Given the description of an element on the screen output the (x, y) to click on. 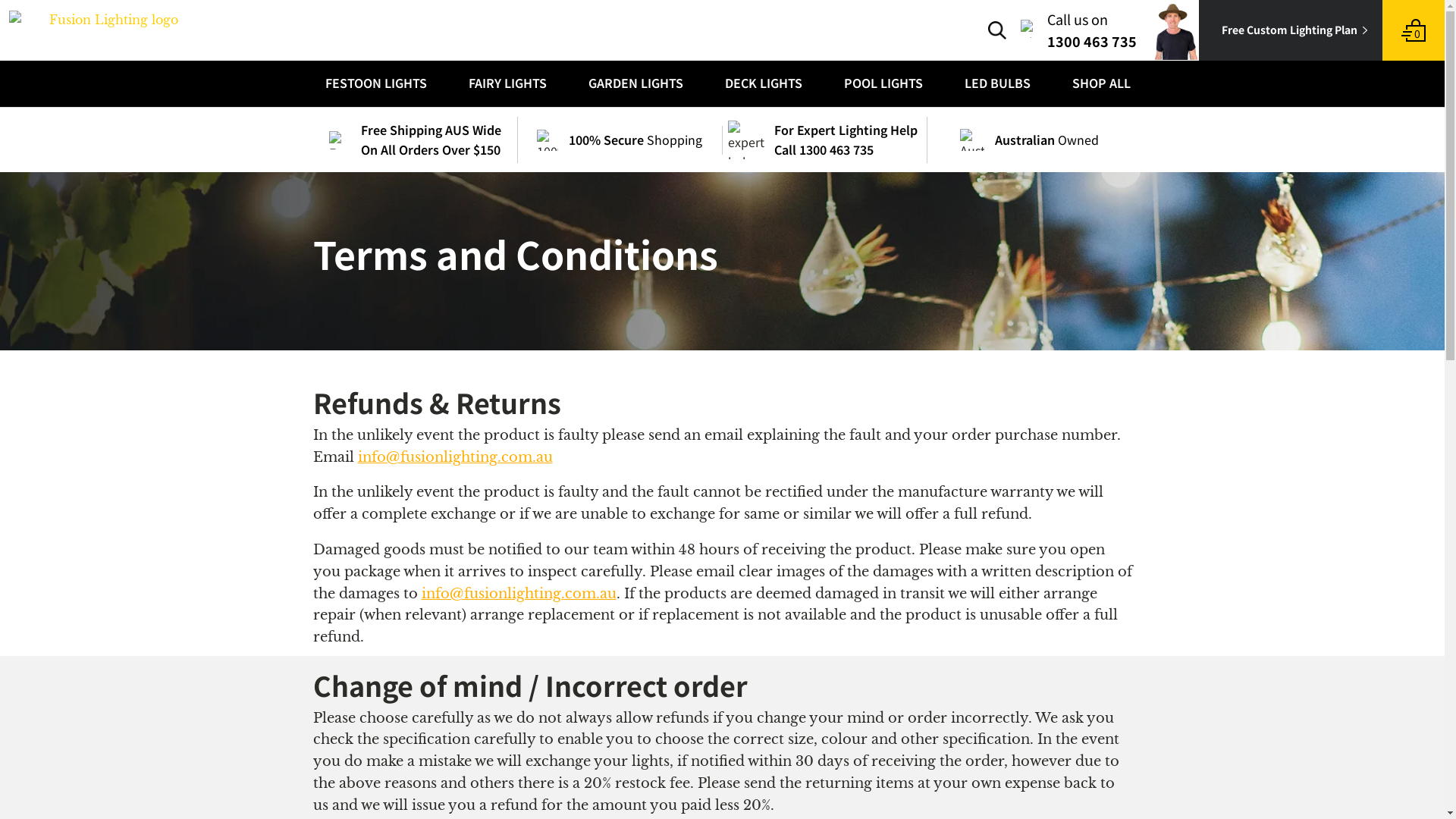
info@fusionlighting.com.au Element type: text (518, 593)
SHOP ALL Element type: text (1095, 83)
FESTOON LIGHTS Element type: text (370, 83)
0 Element type: text (1413, 30)
DECK LIGHTS Element type: text (757, 83)
LED BULBS Element type: text (991, 83)
Call us on
1300 463 735 Element type: text (1079, 30)
Search Element type: text (997, 30)
POOL LIGHTS Element type: text (877, 83)
FAIRY LIGHTS Element type: text (501, 83)
info@fusionlighting.com.au Element type: text (454, 456)
GARDEN LIGHTS Element type: text (629, 83)
Call us Element type: hover (1029, 28)
Free Custom Lighting Plan  Element type: text (1290, 30)
